Given the description of an element on the screen output the (x, y) to click on. 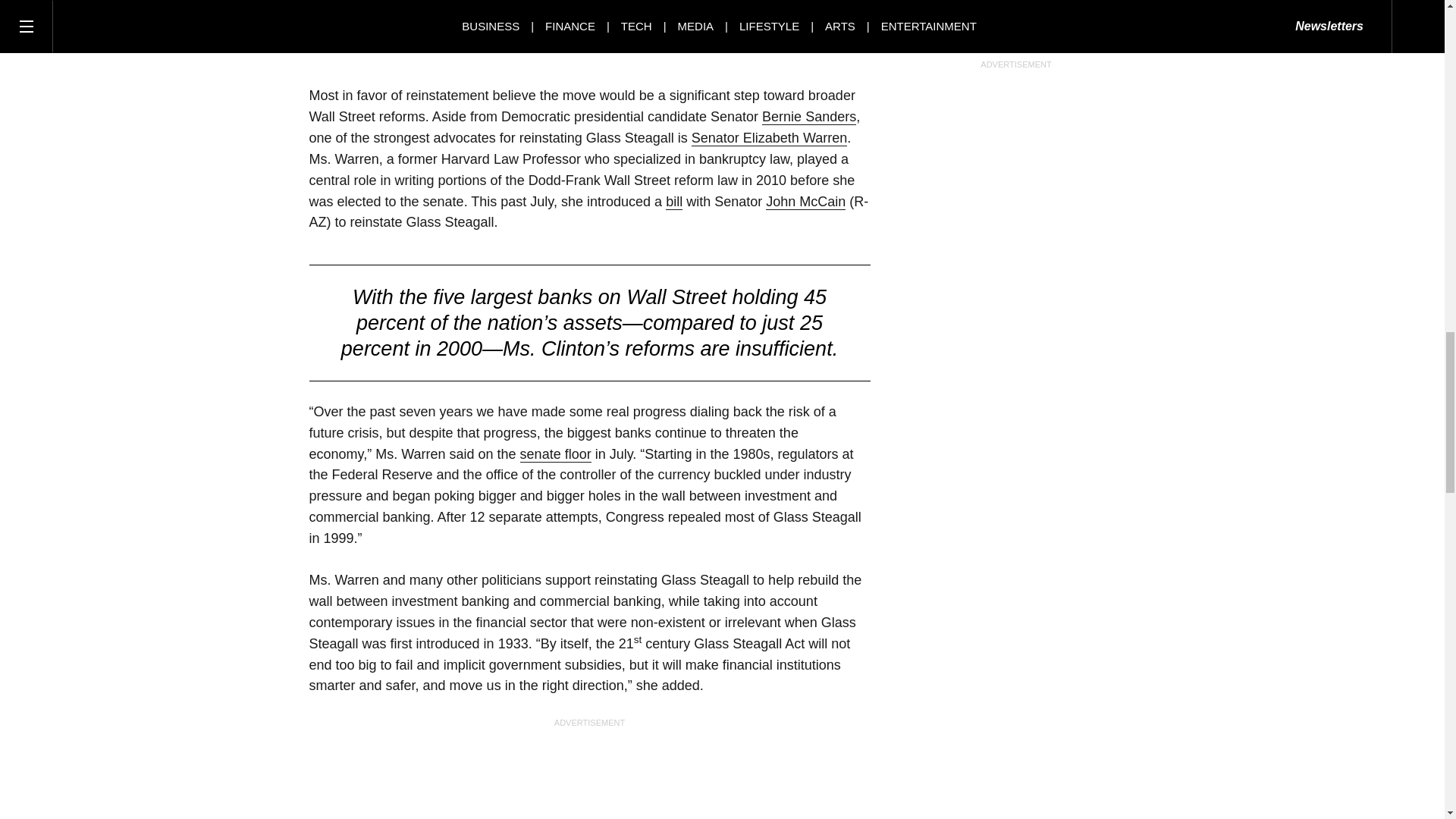
John McCain (805, 201)
Bernie Sanders (808, 116)
